Given the description of an element on the screen output the (x, y) to click on. 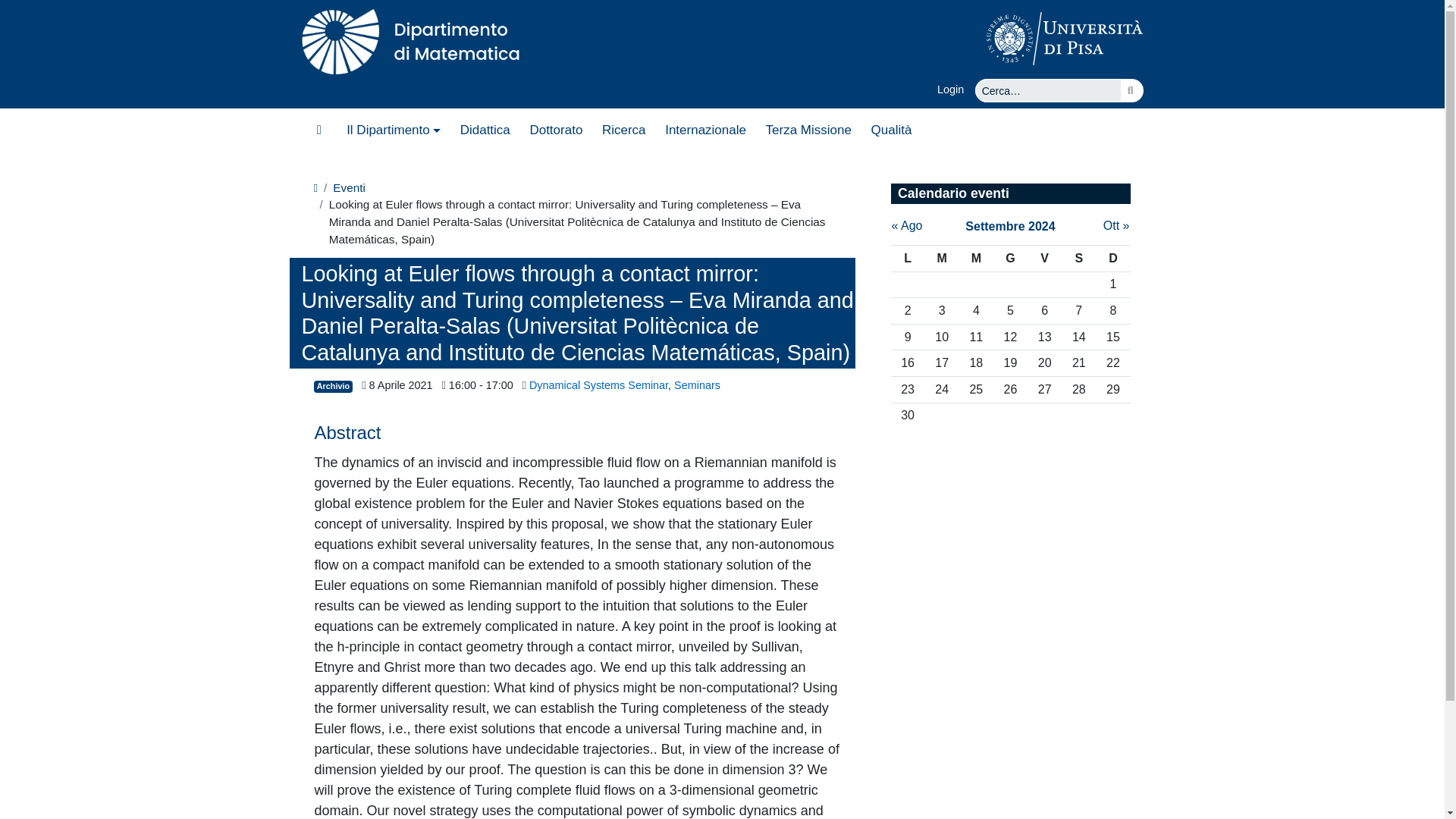
Seminars (697, 385)
Dynamical Systems Seminar (598, 385)
Didattica (484, 130)
Login (956, 89)
Internazionale (705, 130)
Dottorato (555, 130)
Dipartimento di Matematica (415, 37)
Eventi (349, 187)
Ricerca (623, 130)
Homepage (319, 130)
